Given the description of an element on the screen output the (x, y) to click on. 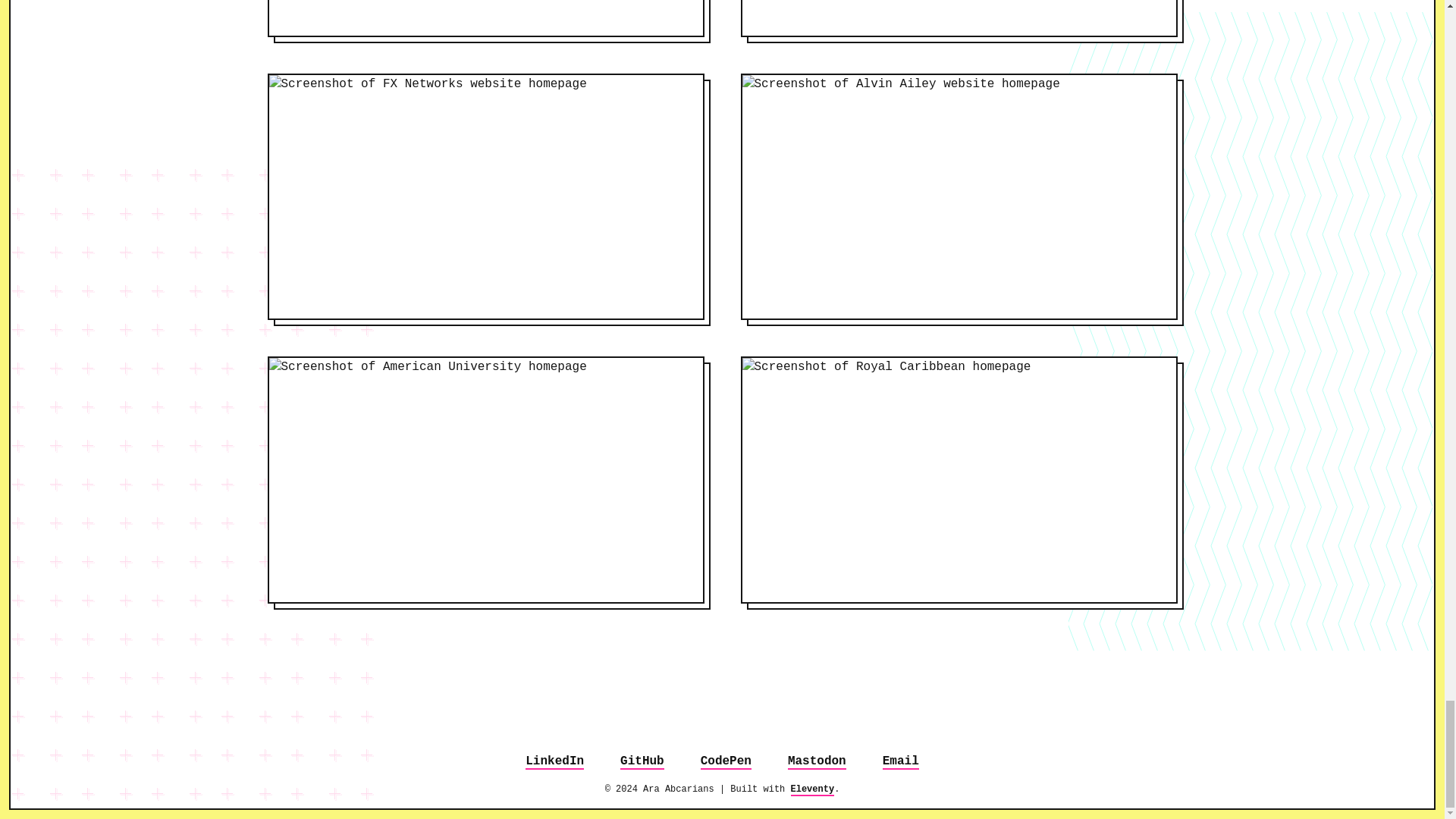
GitHub (641, 761)
Eleventy (812, 789)
Mastodon (816, 761)
Email (900, 761)
LinkedIn (554, 761)
CodePen (725, 761)
